Given the description of an element on the screen output the (x, y) to click on. 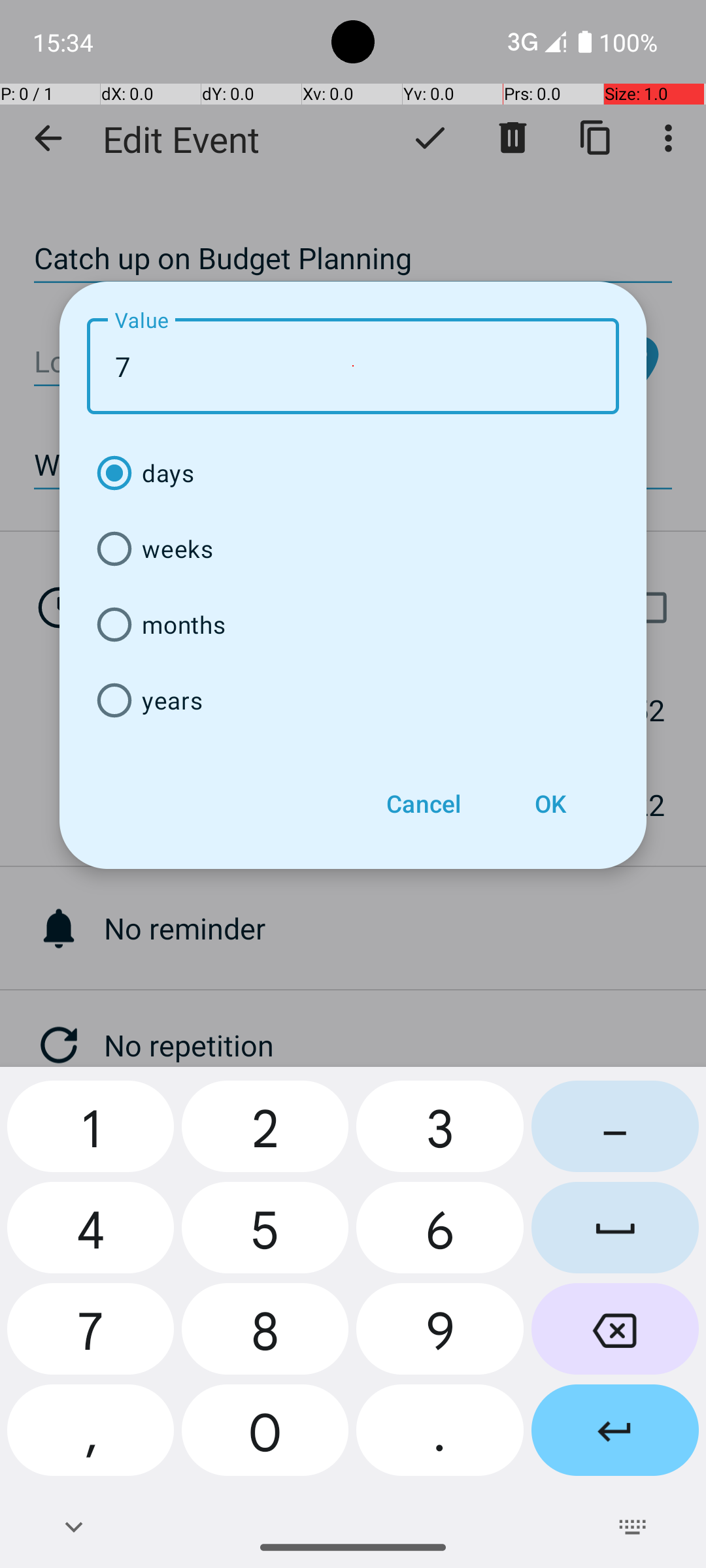
days Element type: android.widget.RadioButton (352, 472)
weeks Element type: android.widget.RadioButton (352, 548)
months Element type: android.widget.RadioButton (352, 624)
years Element type: android.widget.RadioButton (352, 700)
